Given the description of an element on the screen output the (x, y) to click on. 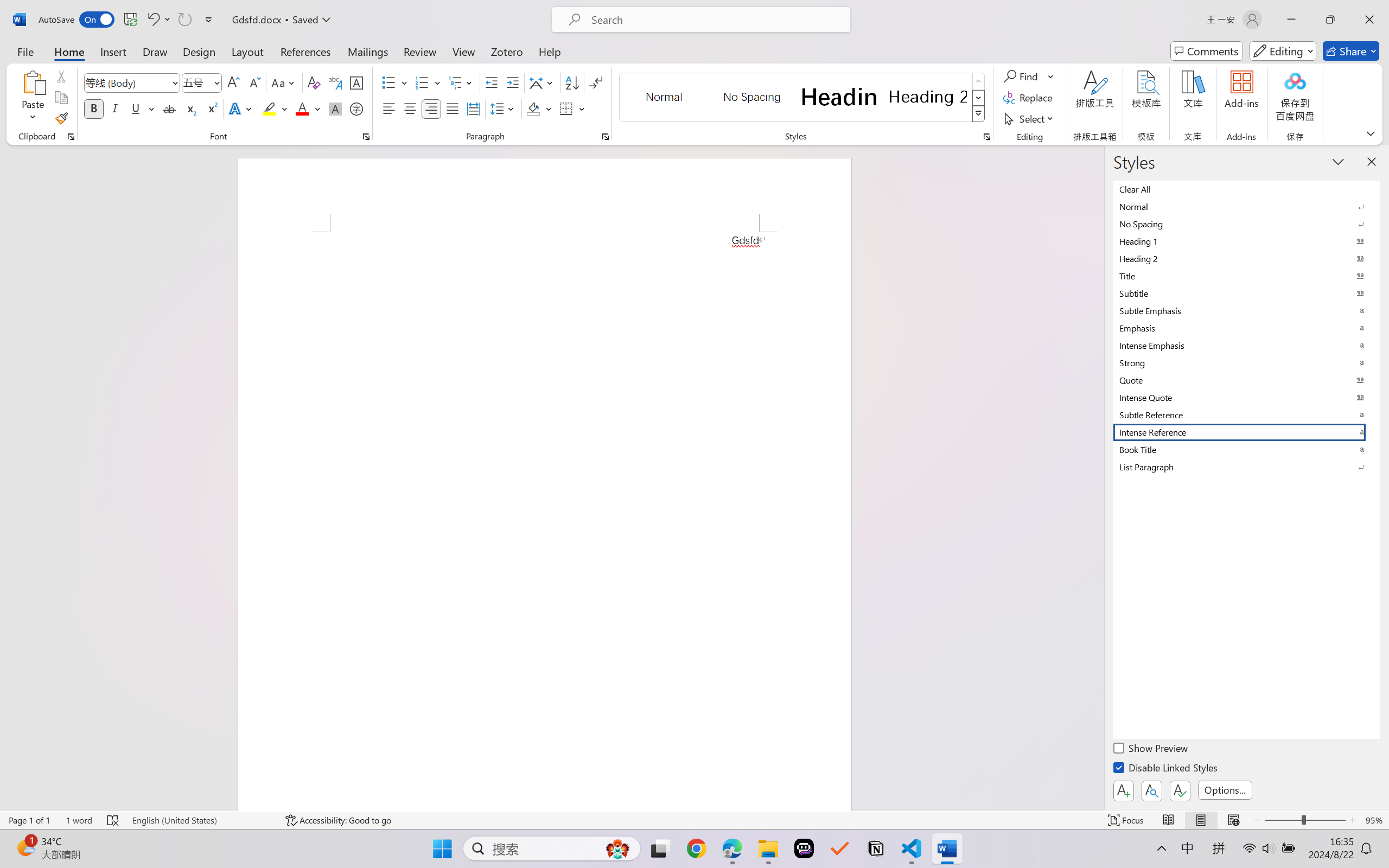
Superscript (210, 108)
Clear Formatting (313, 82)
Shading (539, 108)
Enclose Characters... (356, 108)
Heading 1 (839, 96)
No Spacing (1246, 223)
